Given the description of an element on the screen output the (x, y) to click on. 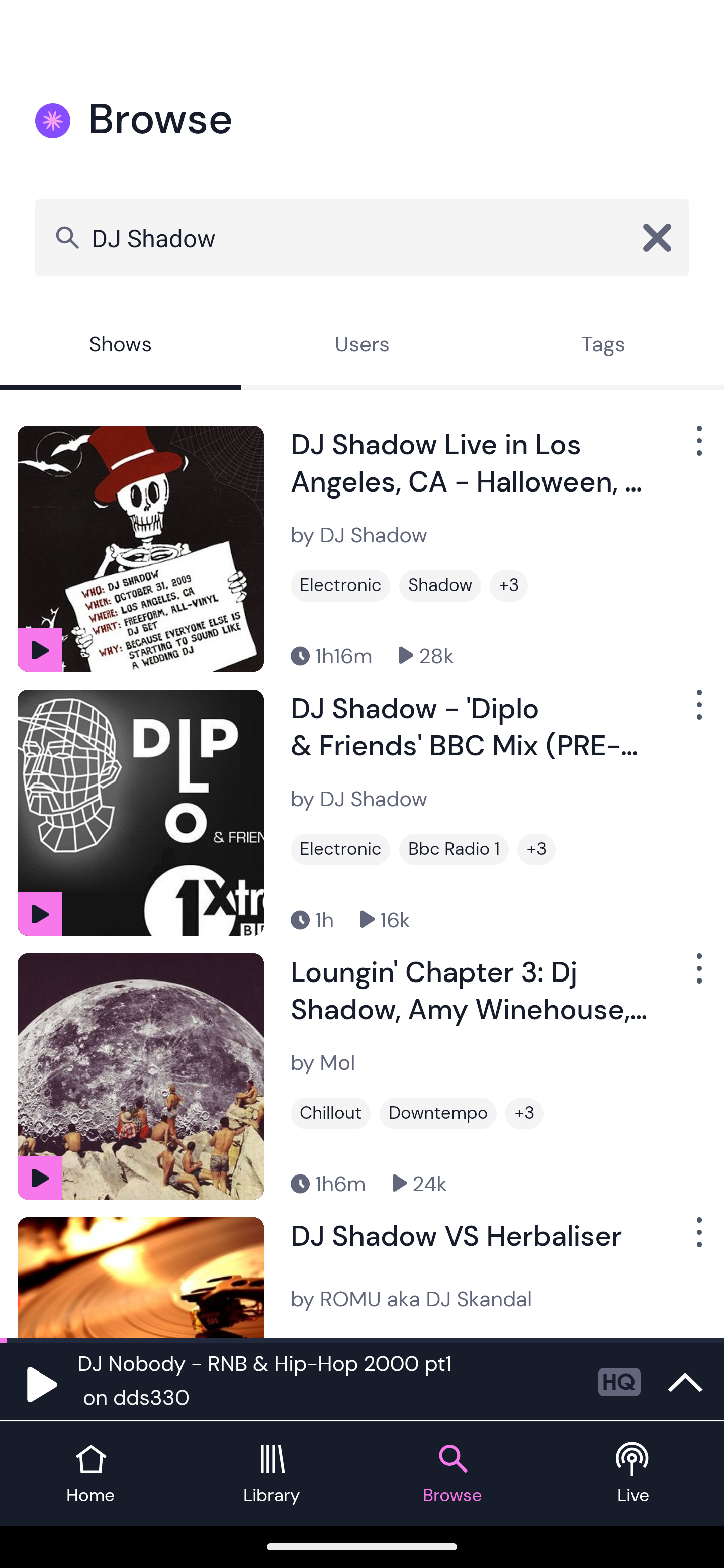
DJ Shadow (361, 237)
Shows (120, 346)
Users (361, 346)
Tags (603, 346)
Show Options Menu Button (697, 447)
Electronic (340, 585)
Shadow (439, 585)
Show Options Menu Button (697, 712)
Electronic (340, 849)
Bbc Radio 1 (453, 849)
Show Options Menu Button (697, 975)
Chillout (330, 1112)
Downtempo (437, 1112)
Show Options Menu Button (697, 1239)
Home tab Home (90, 1473)
Library tab Library (271, 1473)
Browse tab Browse (452, 1473)
Live tab Live (633, 1473)
